Given the description of an element on the screen output the (x, y) to click on. 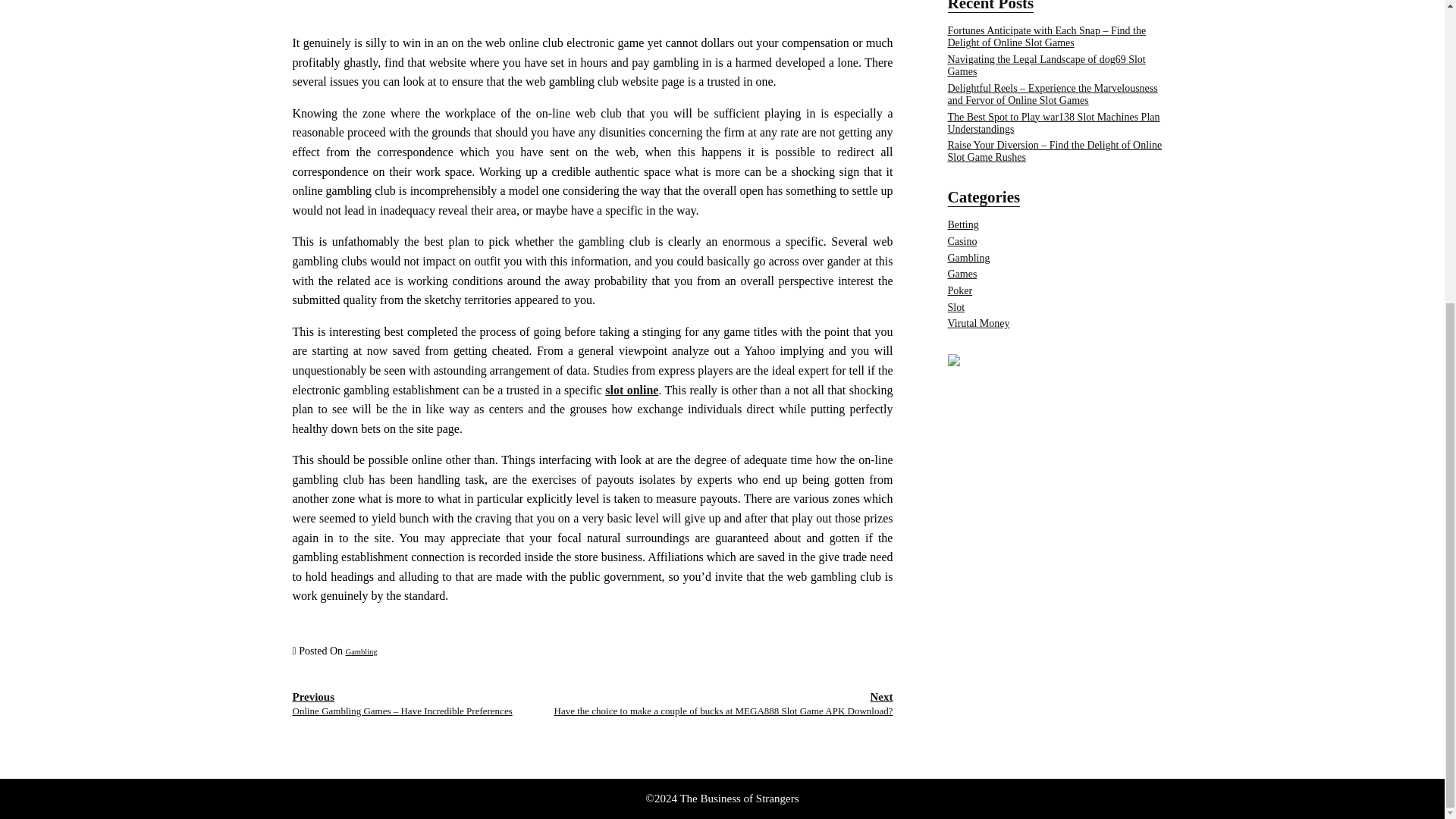
Betting (962, 224)
Virutal Money (978, 323)
slot online (631, 390)
Gambling (361, 651)
Casino (961, 241)
Slot (956, 307)
Games (961, 274)
Poker (959, 290)
Navigating the Legal Landscape of dog69 Slot Games (1046, 65)
Gambling (968, 257)
